Given the description of an element on the screen output the (x, y) to click on. 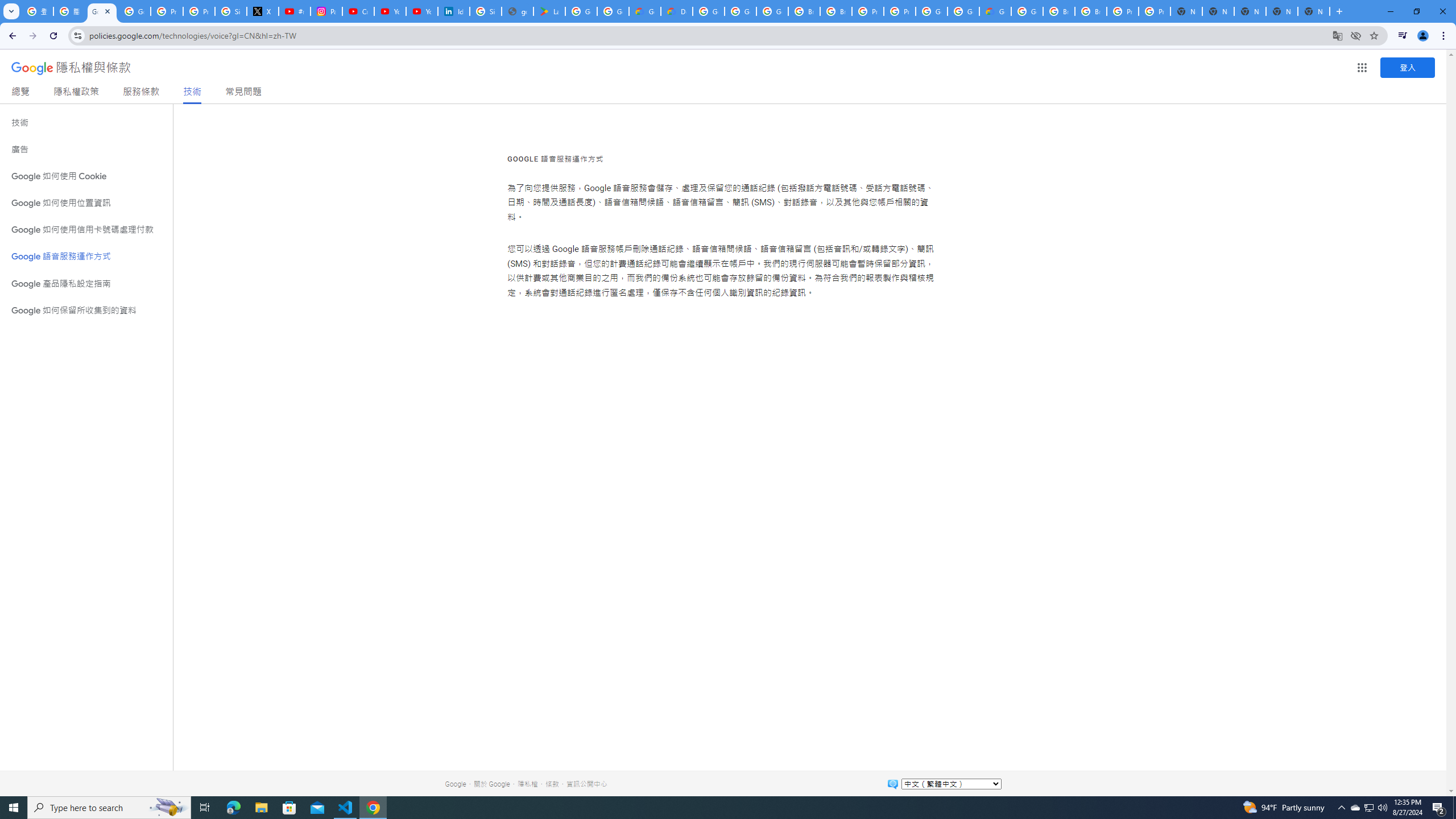
Browse Chrome as a guest - Computer - Google Chrome Help (1059, 11)
Sign in - Google Accounts (230, 11)
Google Cloud Platform (931, 11)
